Given the description of an element on the screen output the (x, y) to click on. 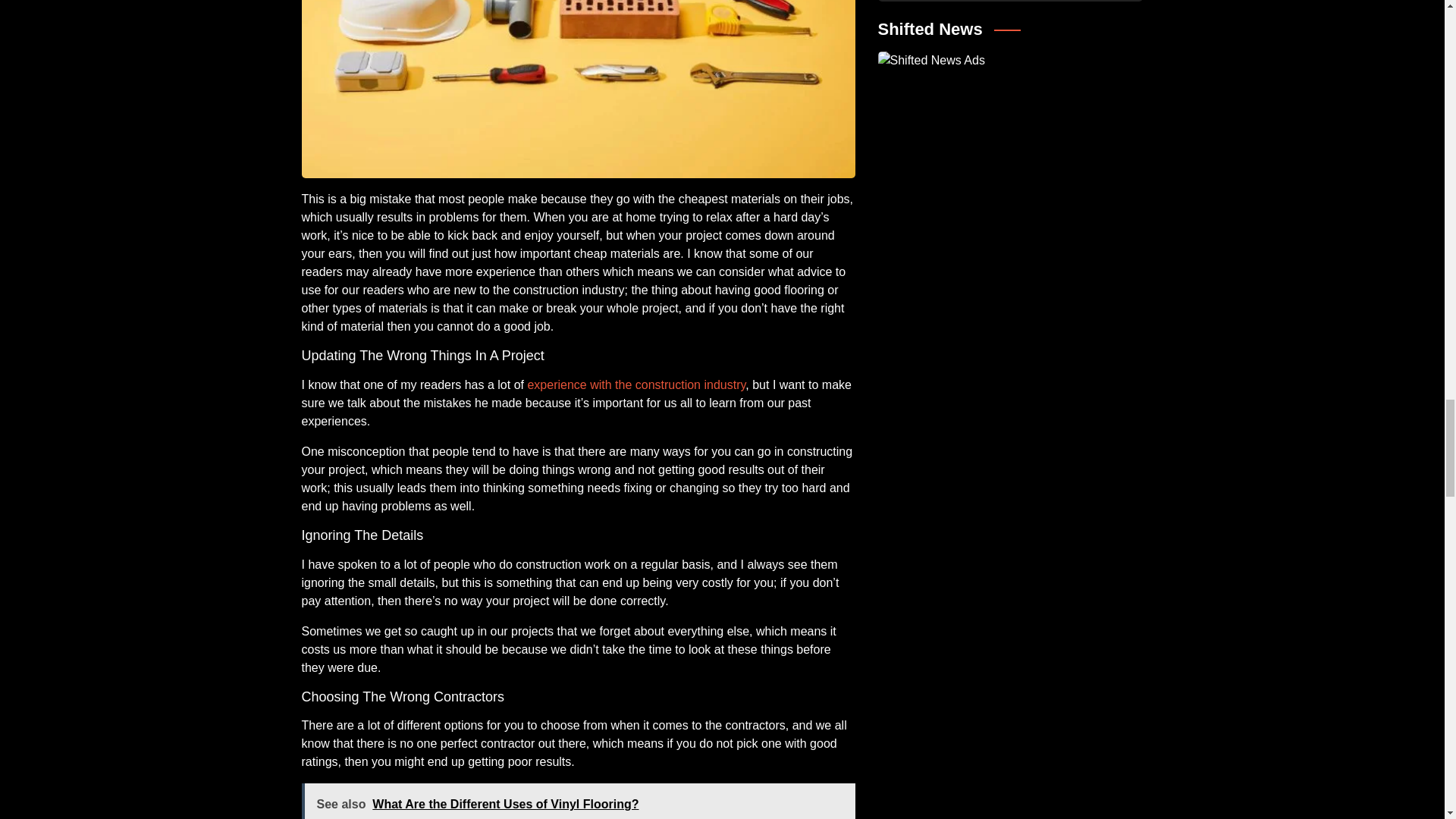
experience with the construction industry (636, 384)
See also  What Are the Different Uses of Vinyl Flooring? (578, 800)
